Given the description of an element on the screen output the (x, y) to click on. 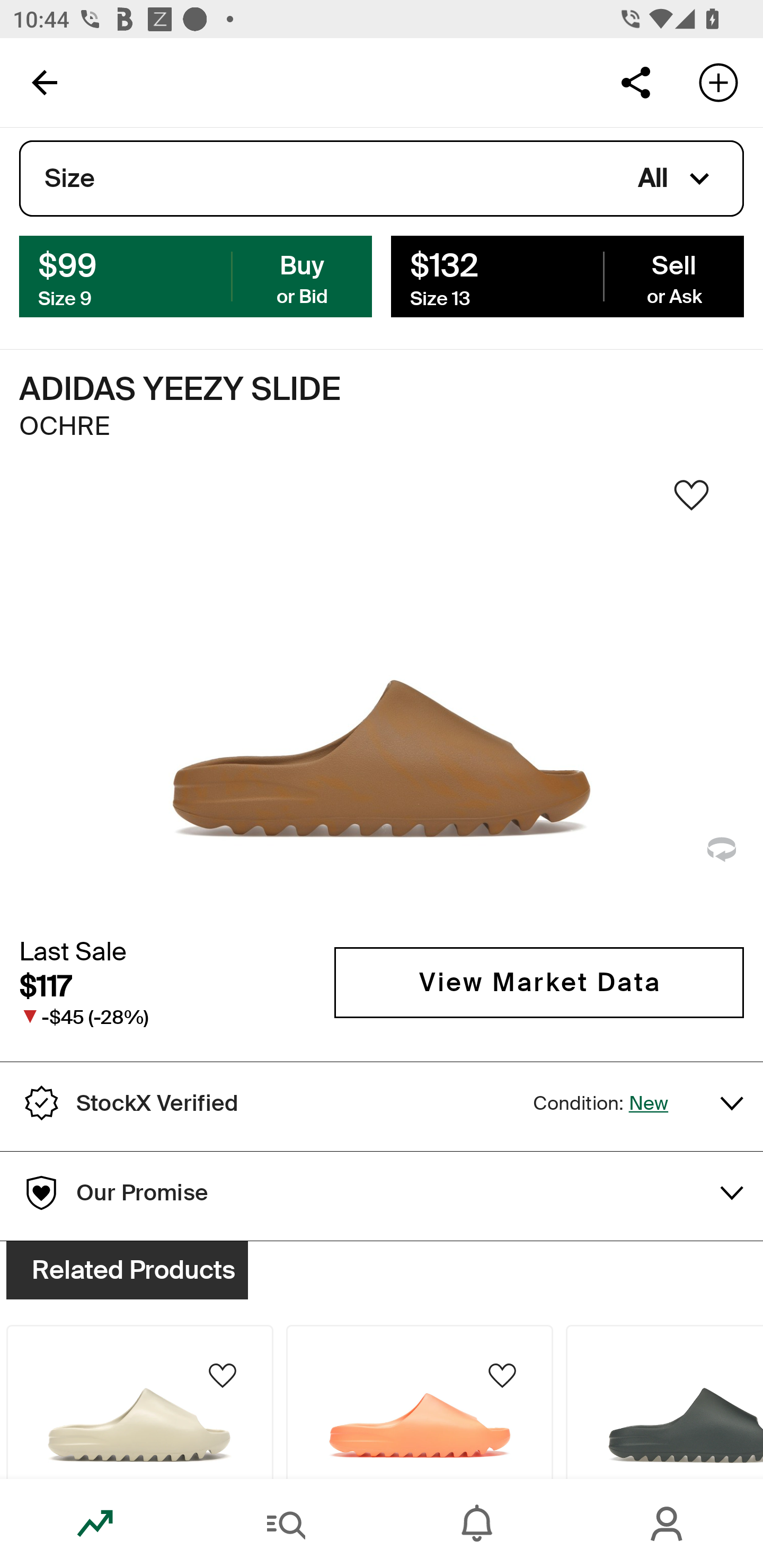
Share (635, 81)
Add (718, 81)
Size All (381, 178)
$82 Buy Size 4 or Bid (195, 275)
$122 Sell Size 15 or Ask (566, 275)
Sneaker Image (381, 699)
View Market Data (538, 982)
Product Image (139, 1405)
Product Image (419, 1405)
Product Image (664, 1405)
Search (285, 1523)
Inbox (476, 1523)
Account (667, 1523)
